Given the description of an element on the screen output the (x, y) to click on. 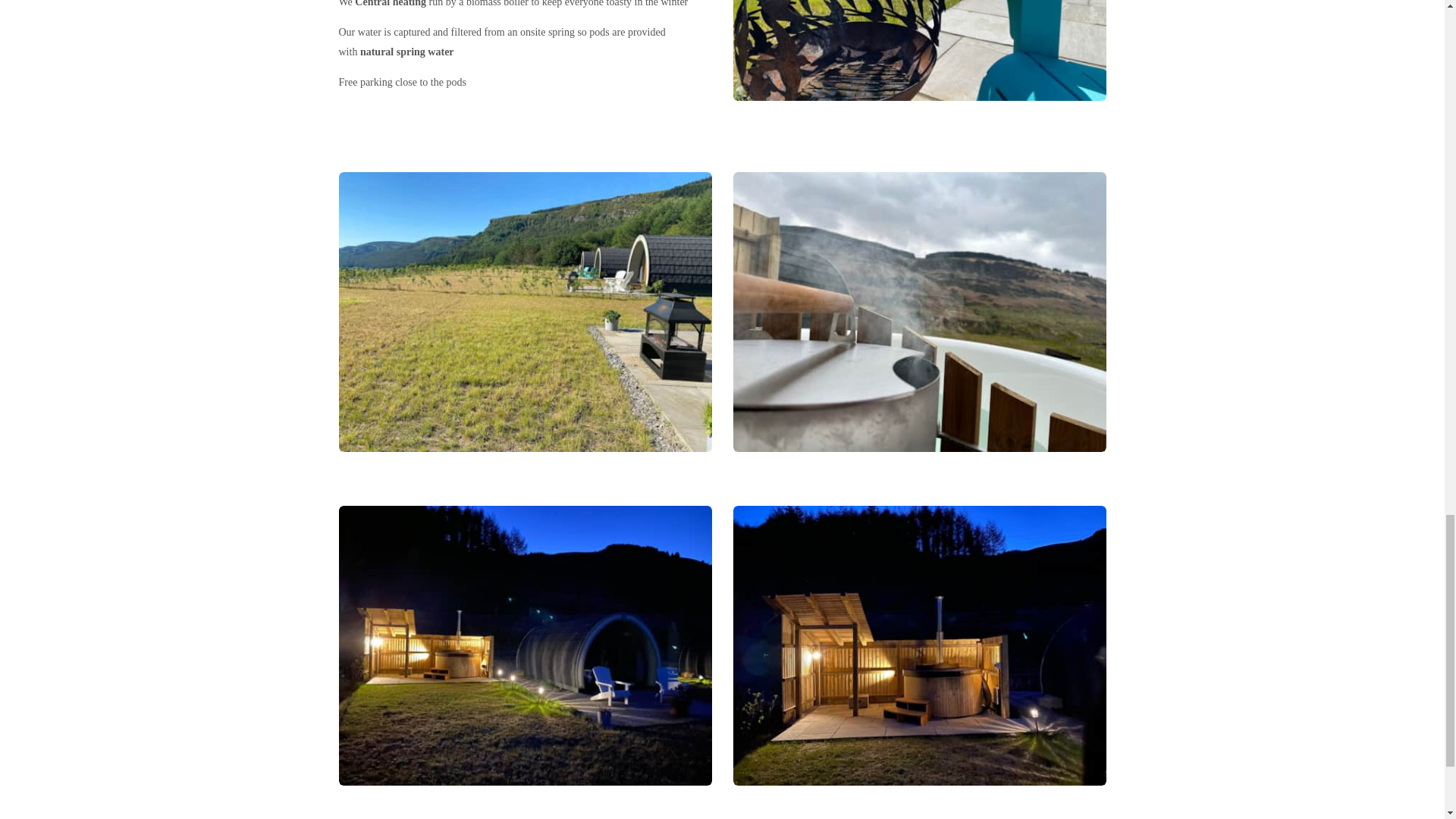
Image Title (524, 645)
Image Title (918, 50)
Image Title (524, 311)
Image Title (918, 645)
Image Title (918, 311)
